Given the description of an element on the screen output the (x, y) to click on. 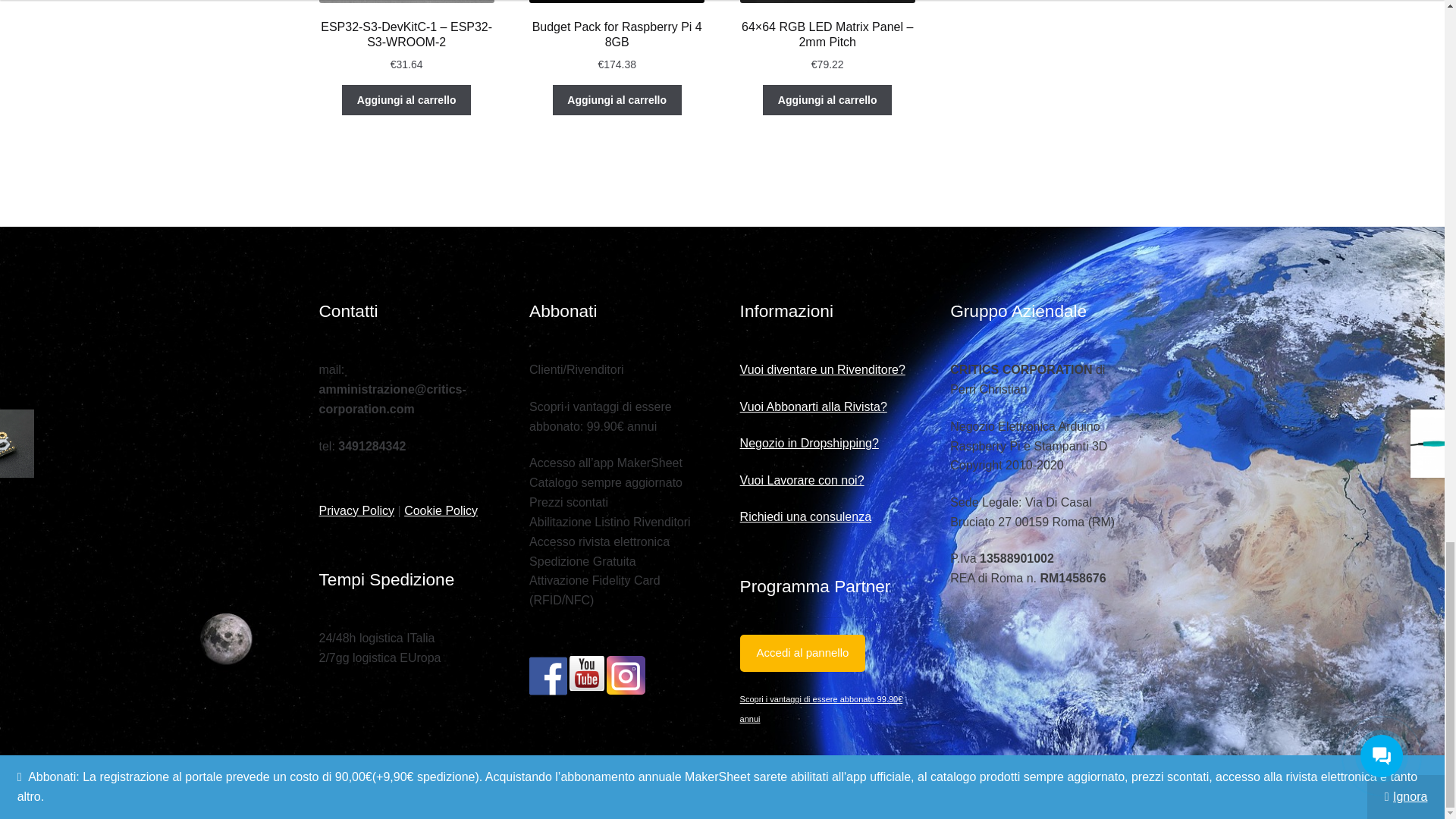
Cookie Policy  (440, 510)
Privacy Policy  (356, 510)
